Given the description of an element on the screen output the (x, y) to click on. 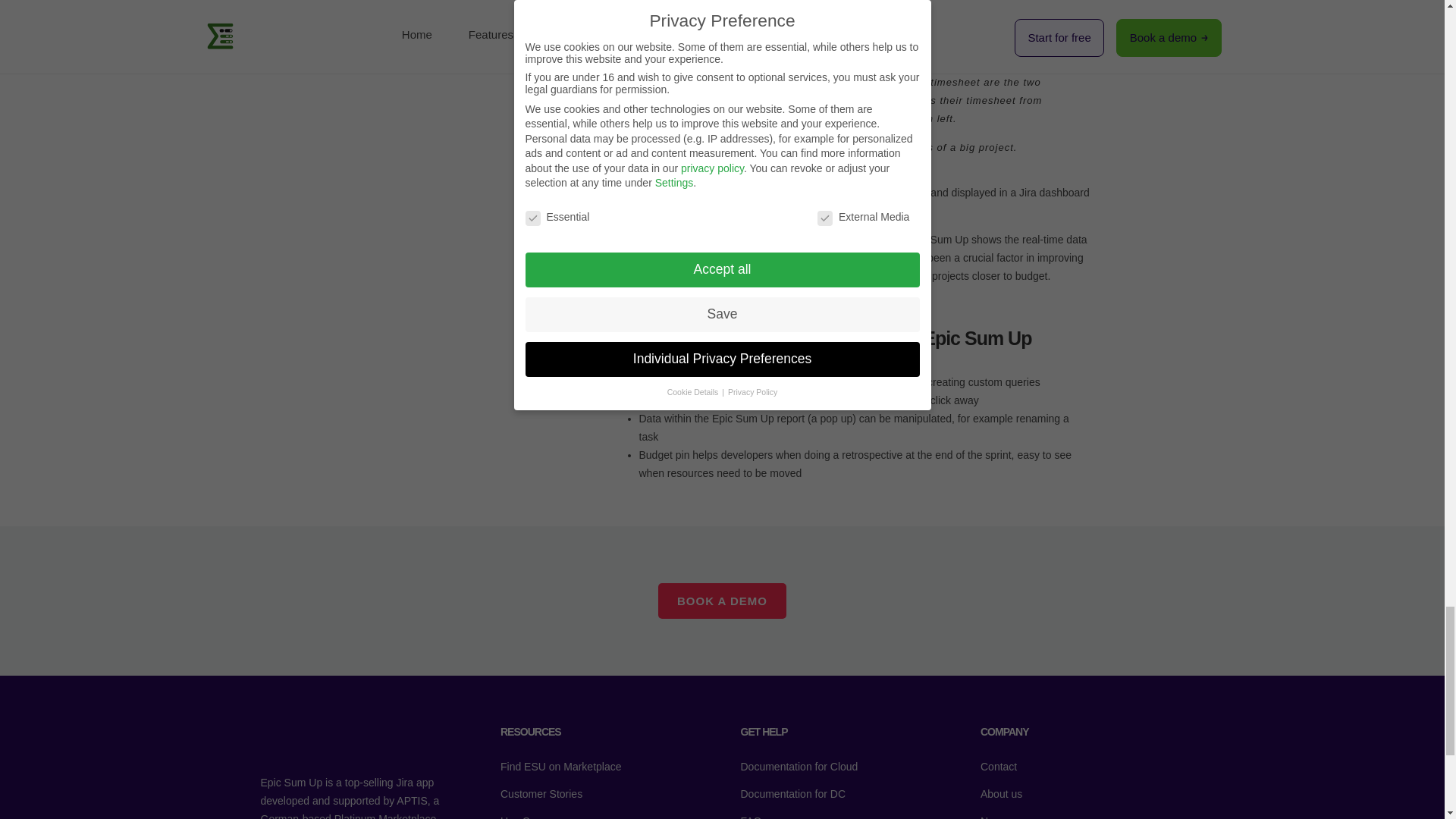
Find ESU on Marketplace (577, 766)
BOOK A DEMO (722, 601)
APTIS (411, 800)
